Given the description of an element on the screen output the (x, y) to click on. 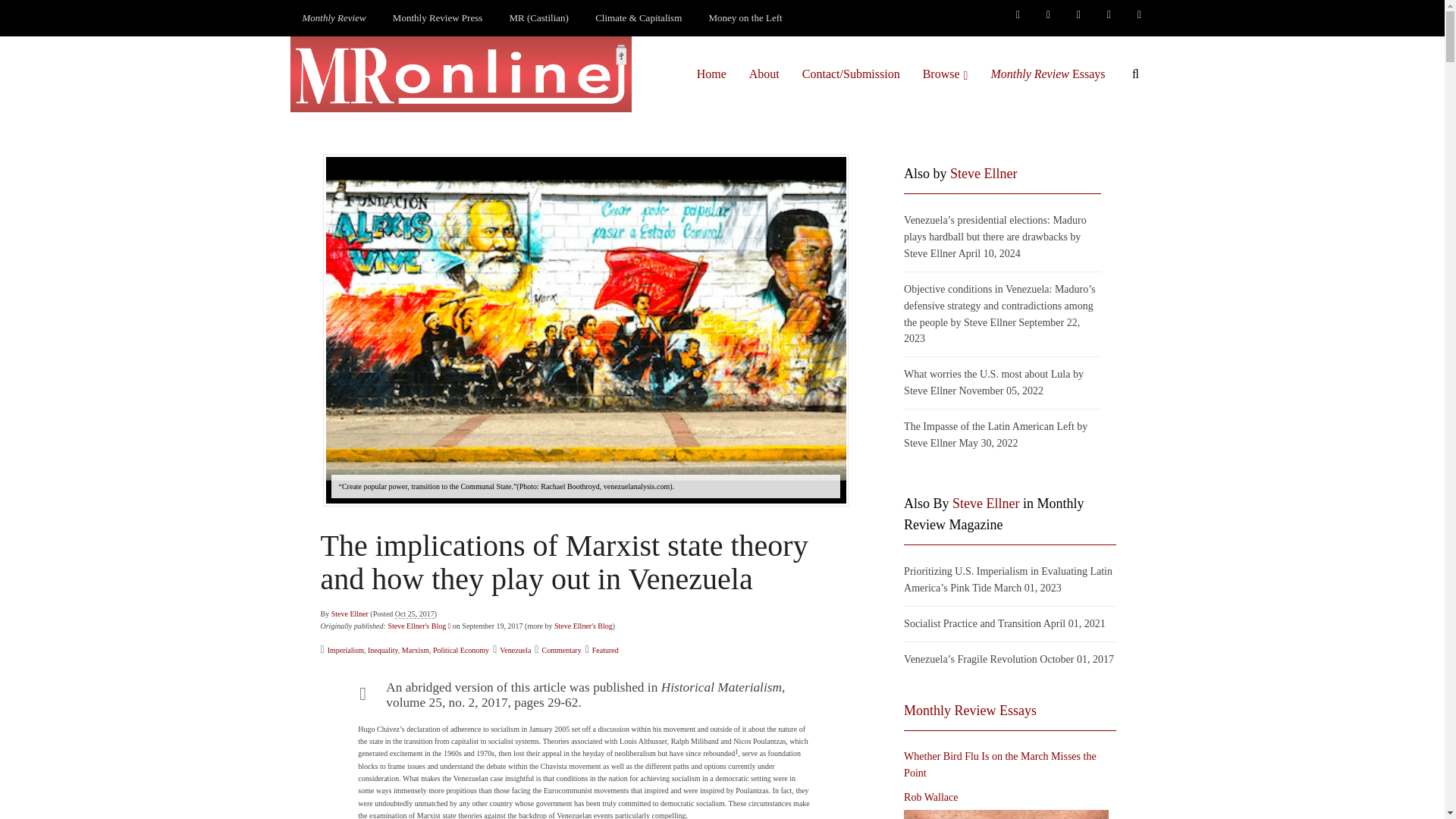
Monthly Review (333, 18)
Whether Bird Flu Is on the March Misses the Point (1006, 814)
Monthly Review Press (437, 18)
Monthly Review Magazine (333, 18)
Browse (945, 74)
Money on the Left (745, 18)
Posts by Rob Wallace (931, 797)
